Given the description of an element on the screen output the (x, y) to click on. 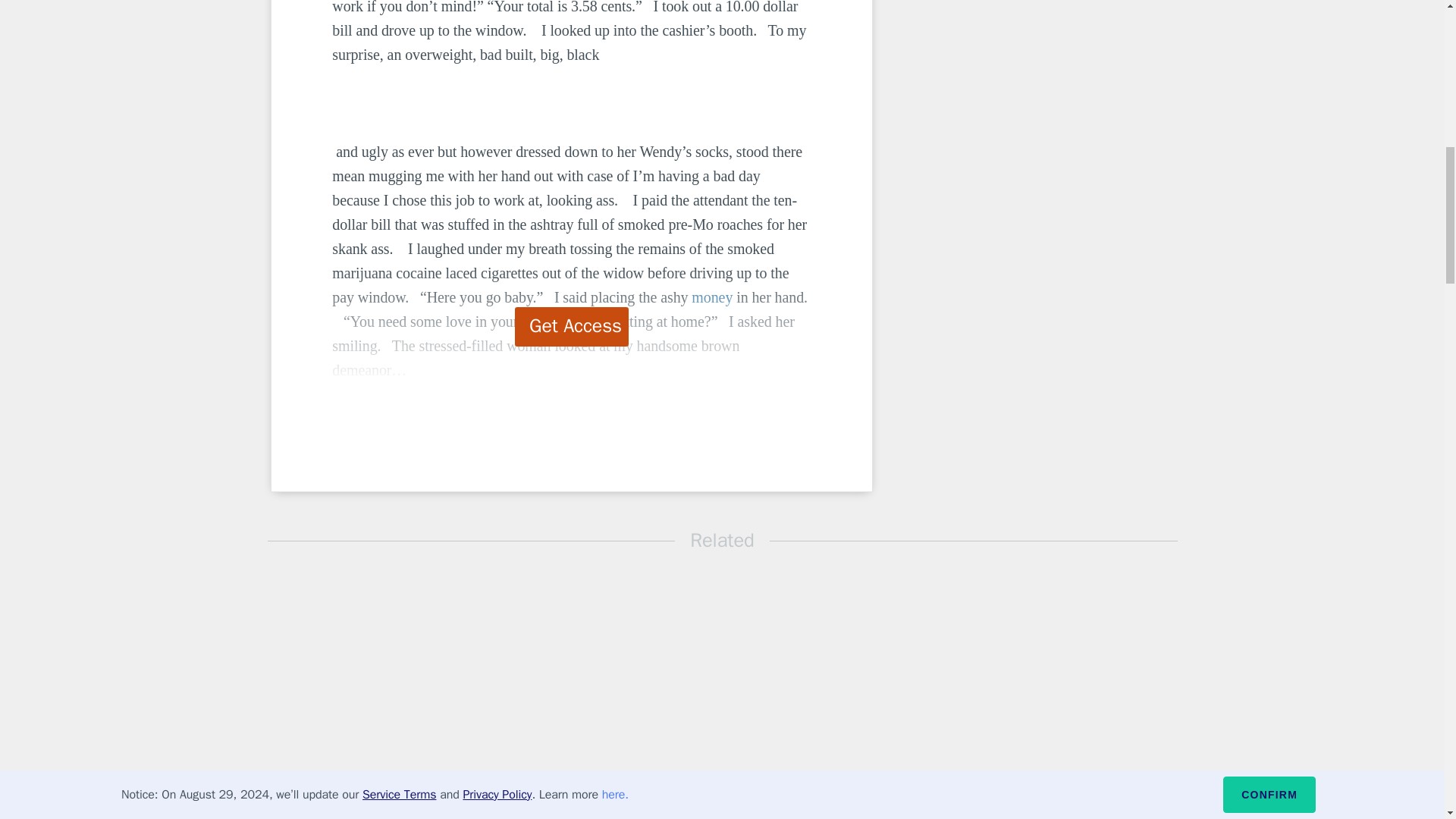
Get Access (571, 326)
money (711, 297)
Working At Wendy's Essay (548, 802)
